Given the description of an element on the screen output the (x, y) to click on. 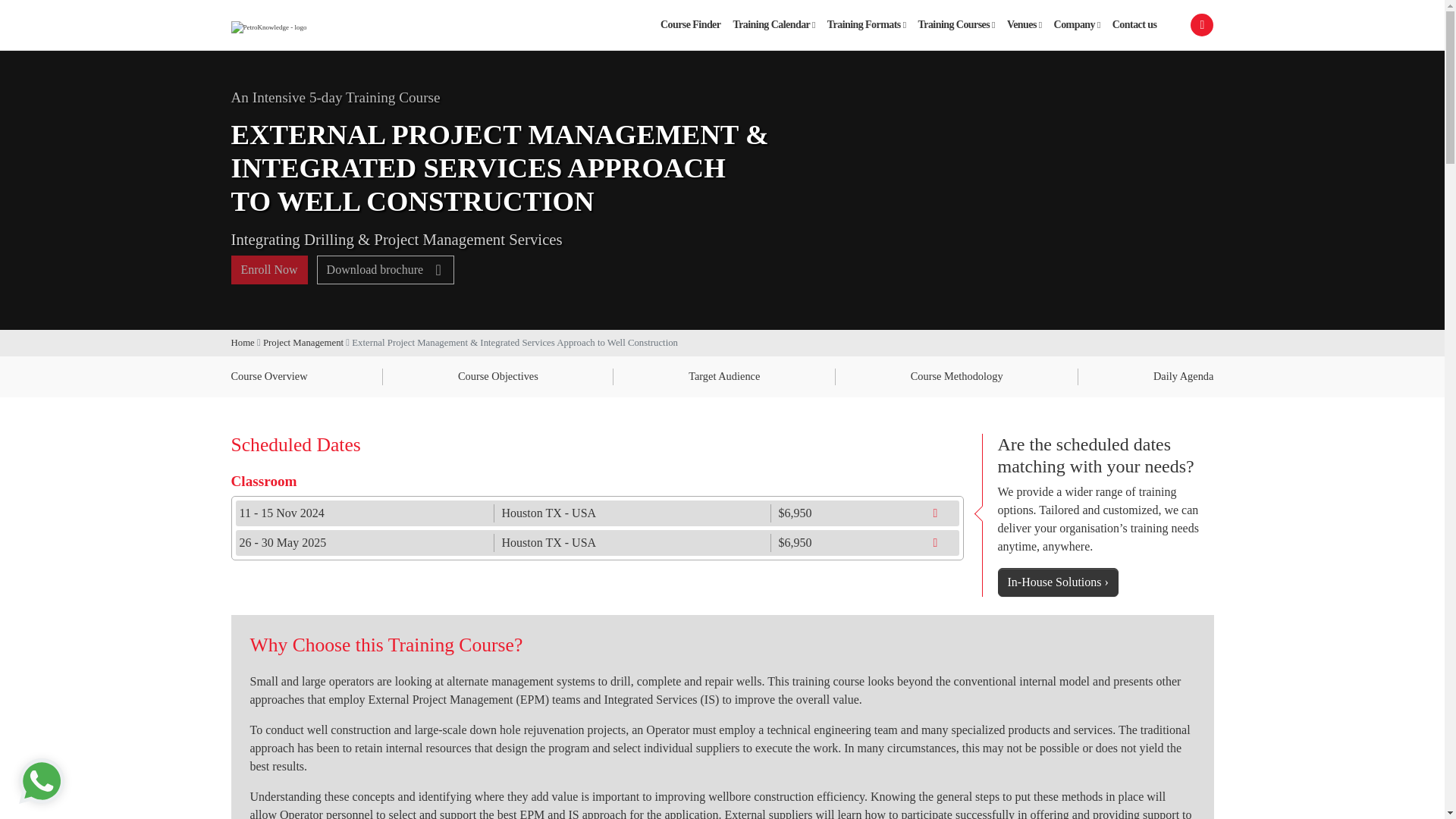
Course Overview (268, 376)
Daily Agenda (1183, 376)
Training Calendar (773, 24)
Target Audience (724, 376)
Training Courses (956, 24)
Course Methodology (957, 376)
Show Chat (42, 781)
Course Finder (689, 24)
Course Objectives (498, 376)
Training Formats (866, 24)
